Given the description of an element on the screen output the (x, y) to click on. 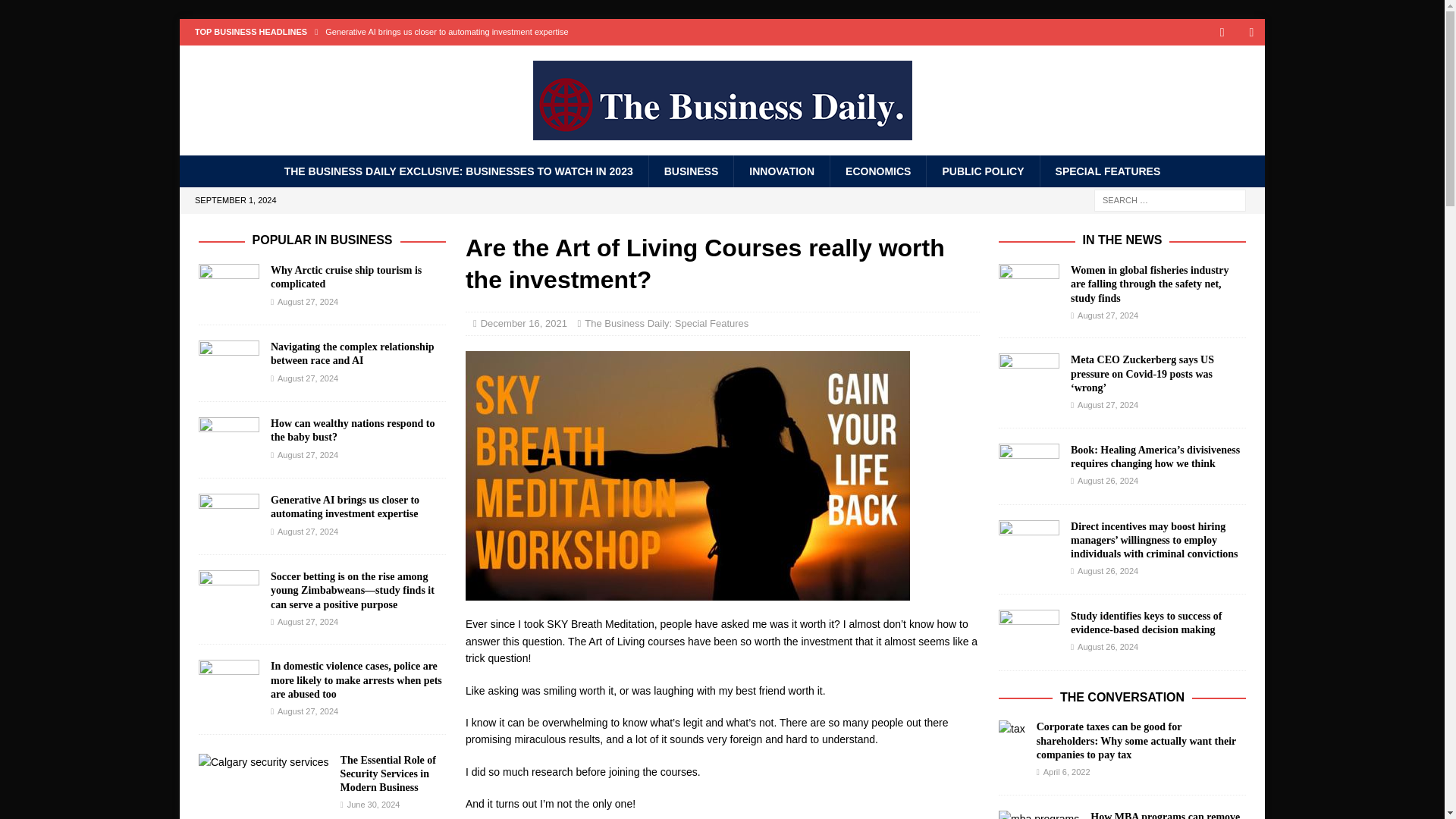
Follow The Business Daily on Twitter (1221, 31)
BUSINESS (690, 171)
Follow The Business Daily on Instagram (1252, 31)
PUBLIC POLICY (982, 171)
The Business Daily: Special Features (666, 323)
INNOVATION (781, 171)
THE BUSINESS DAILY EXCLUSIVE: BUSINESSES TO WATCH IN 2023 (458, 171)
